Given the description of an element on the screen output the (x, y) to click on. 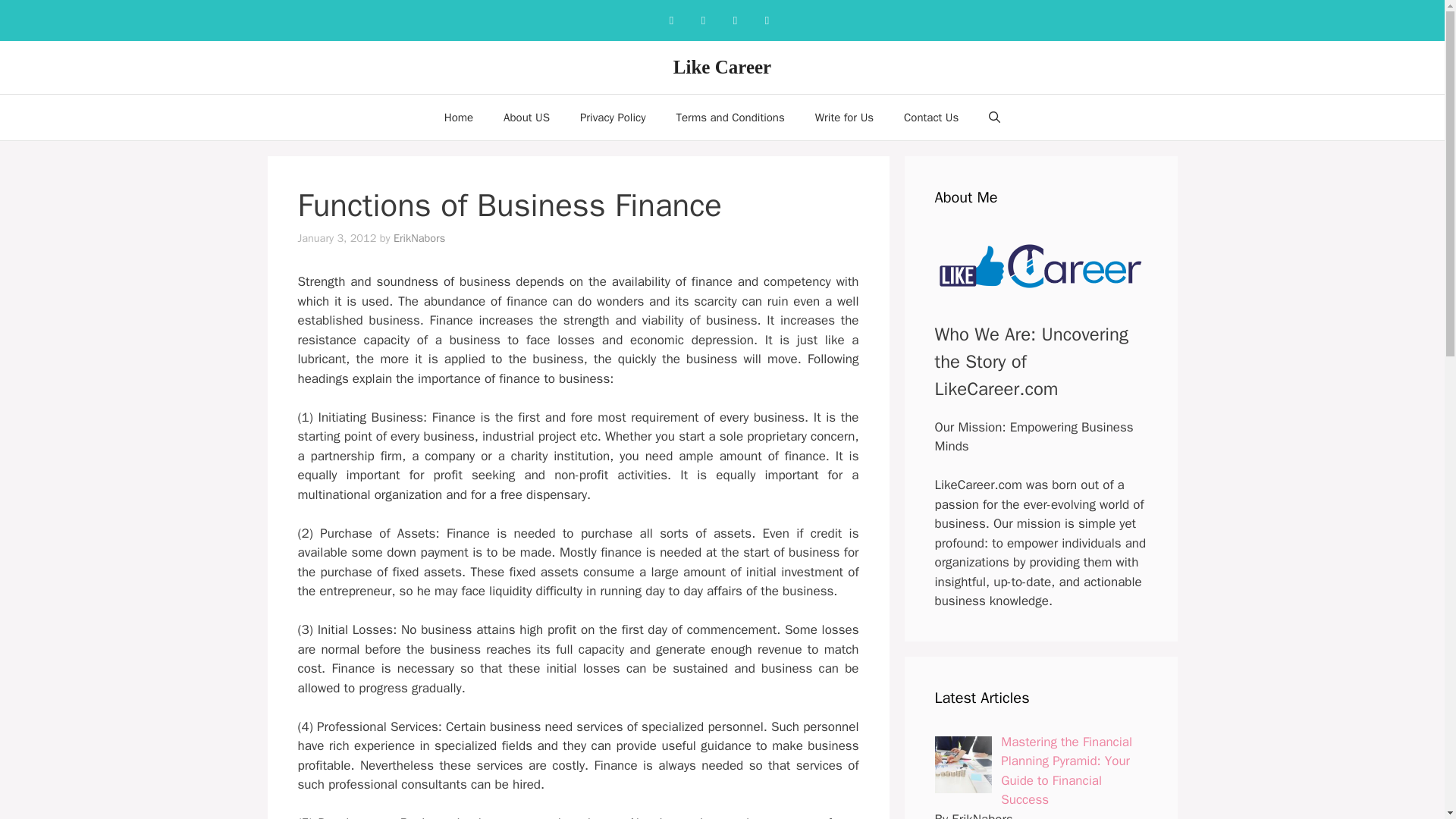
View all posts by ErikNabors (419, 237)
Privacy Policy (612, 117)
Twitter (766, 20)
Terms and Conditions (730, 117)
Contact Us (931, 117)
ErikNabors (419, 237)
About US (525, 117)
Facebook (671, 20)
Pinterest (735, 20)
Instagram (703, 20)
Home (458, 117)
Write for Us (843, 117)
Like Career (721, 66)
